Given the description of an element on the screen output the (x, y) to click on. 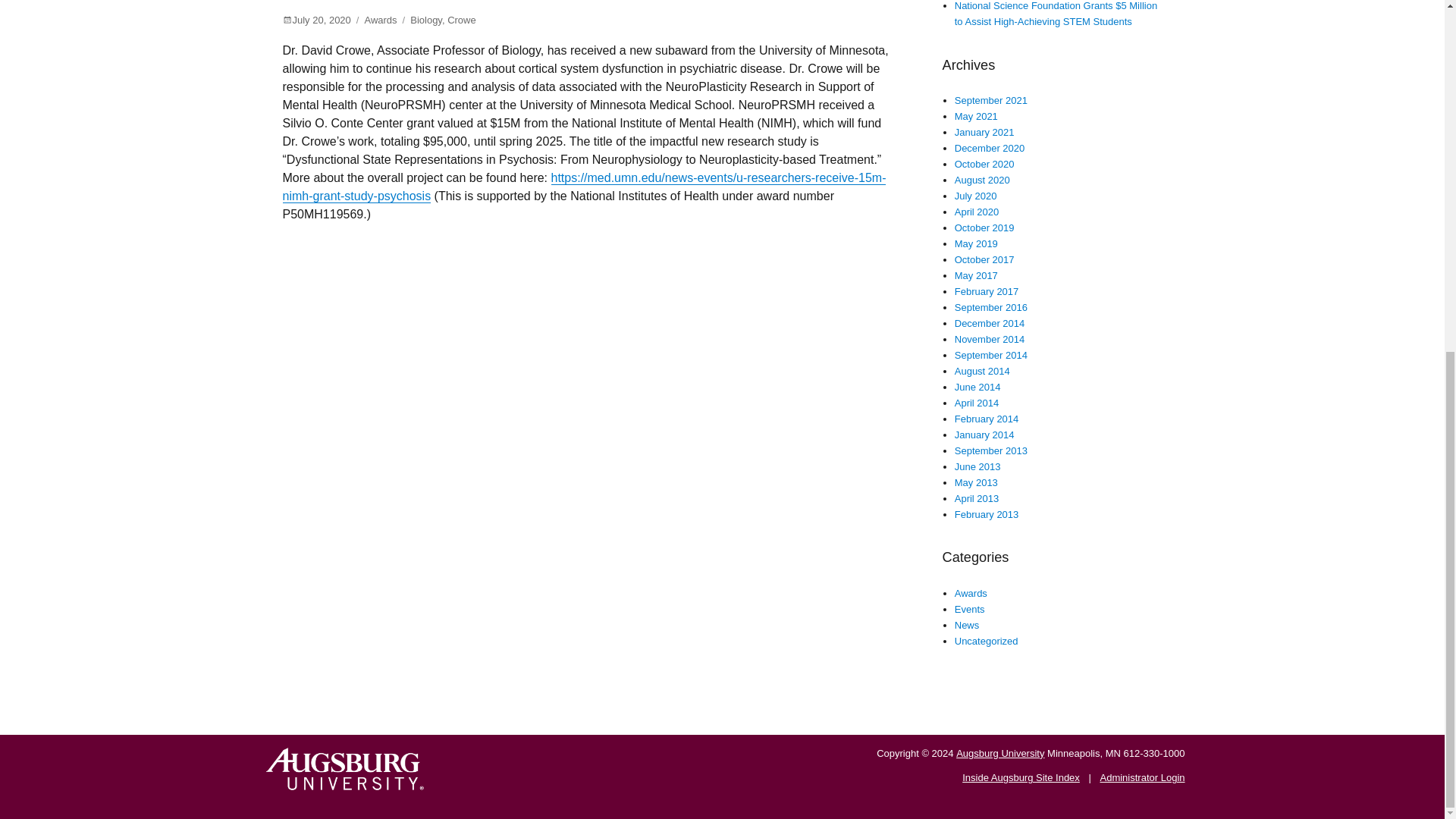
September 2021 (991, 100)
December 2020 (990, 147)
August 2020 (982, 179)
Biology (426, 19)
July 2020 (976, 195)
January 2021 (984, 132)
Awards (380, 19)
May 2021 (976, 116)
October 2020 (984, 163)
Crowe (461, 19)
